Given the description of an element on the screen output the (x, y) to click on. 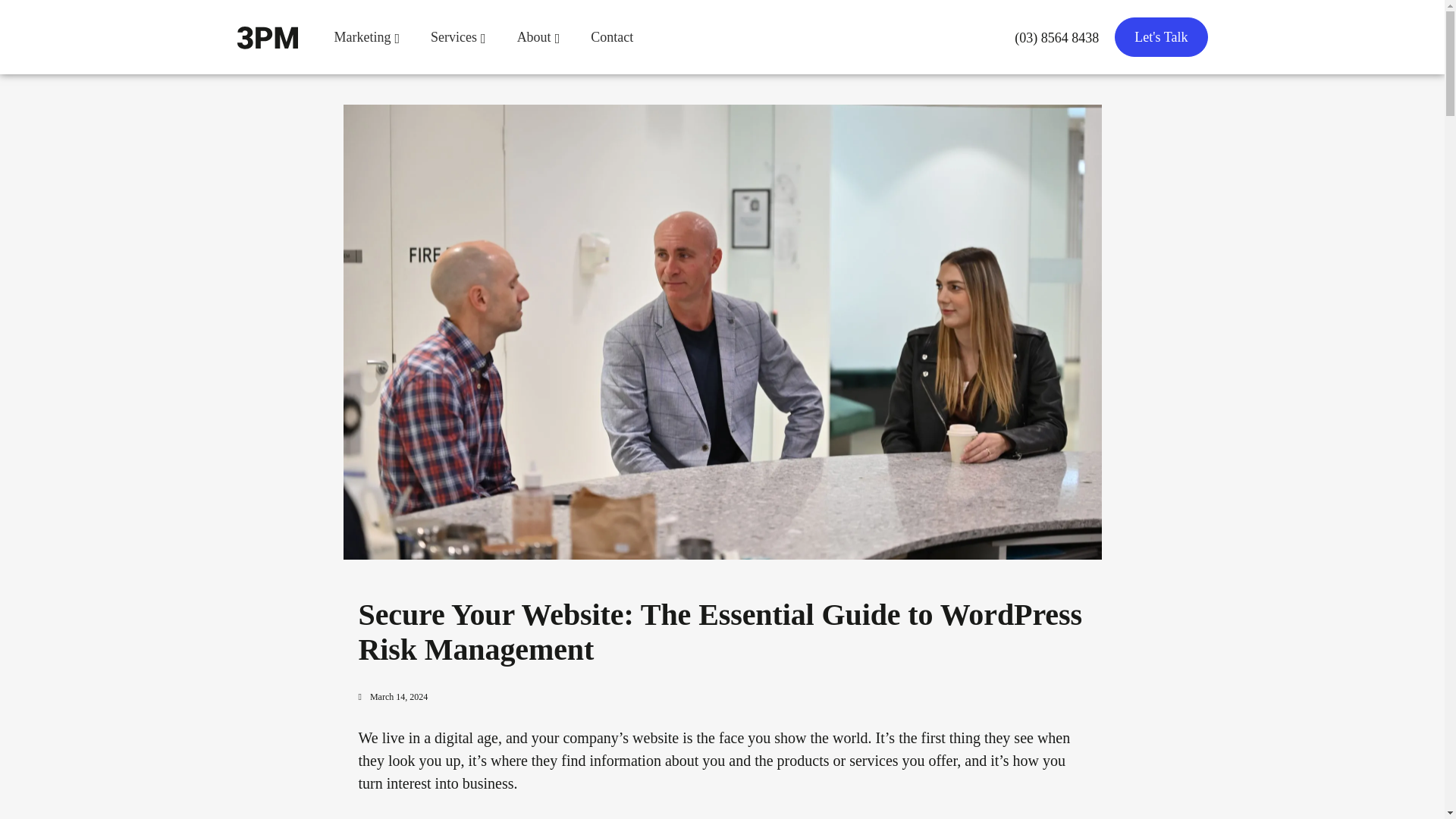
About (538, 36)
Let's Talk (1161, 36)
Services (458, 36)
Contact (612, 36)
Marketing (367, 36)
About (538, 36)
Contact (612, 36)
Marketing (367, 36)
Services (458, 36)
March 14, 2024 (393, 696)
